Given the description of an element on the screen output the (x, y) to click on. 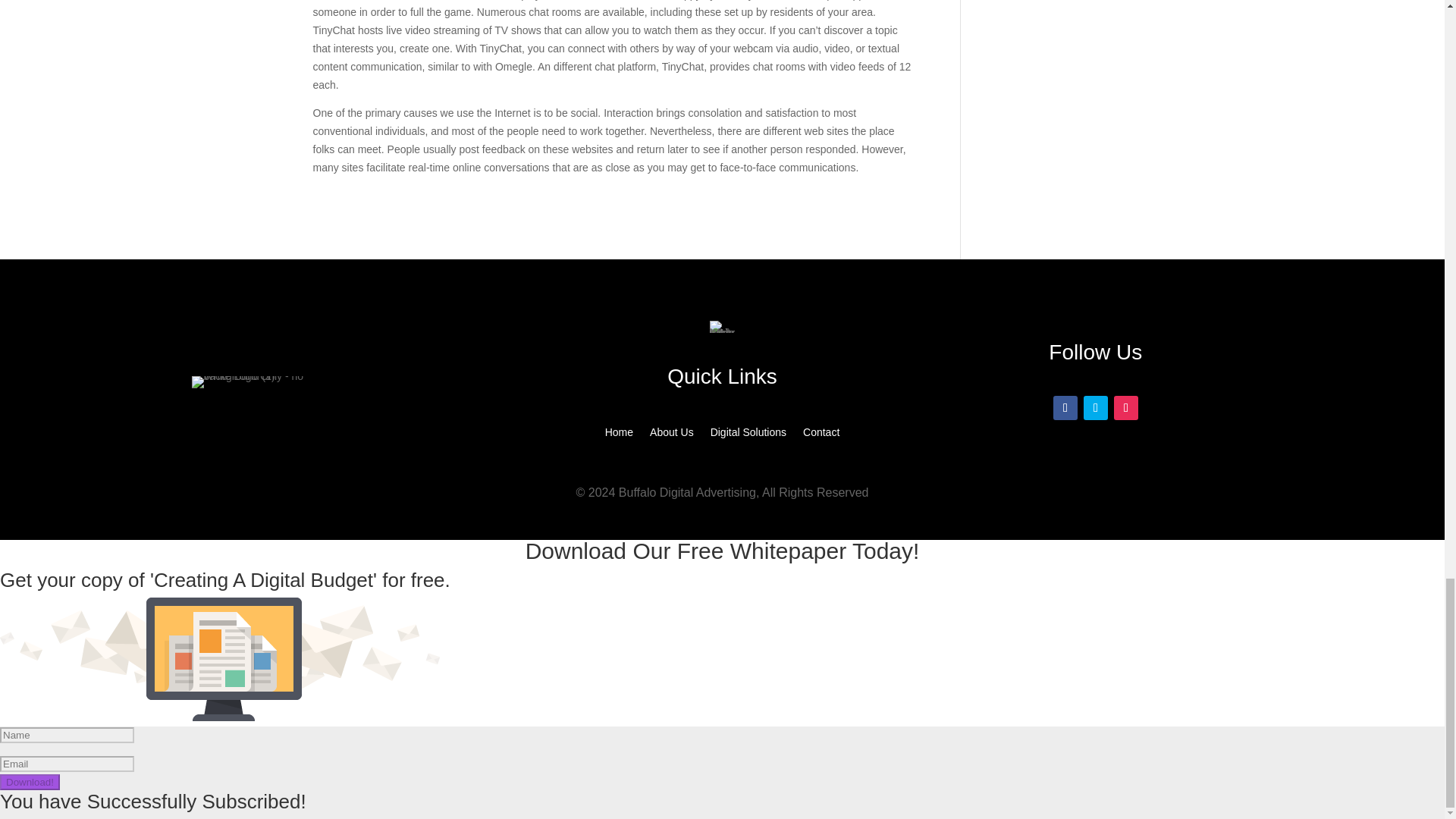
Follow on Instagram (1125, 407)
About Us (671, 434)
Home (619, 434)
Contact (821, 434)
Follow on Facebook (1064, 407)
Download! (29, 781)
Follow on Twitter (1095, 407)
Digital Solutions (748, 434)
